Given the description of an element on the screen output the (x, y) to click on. 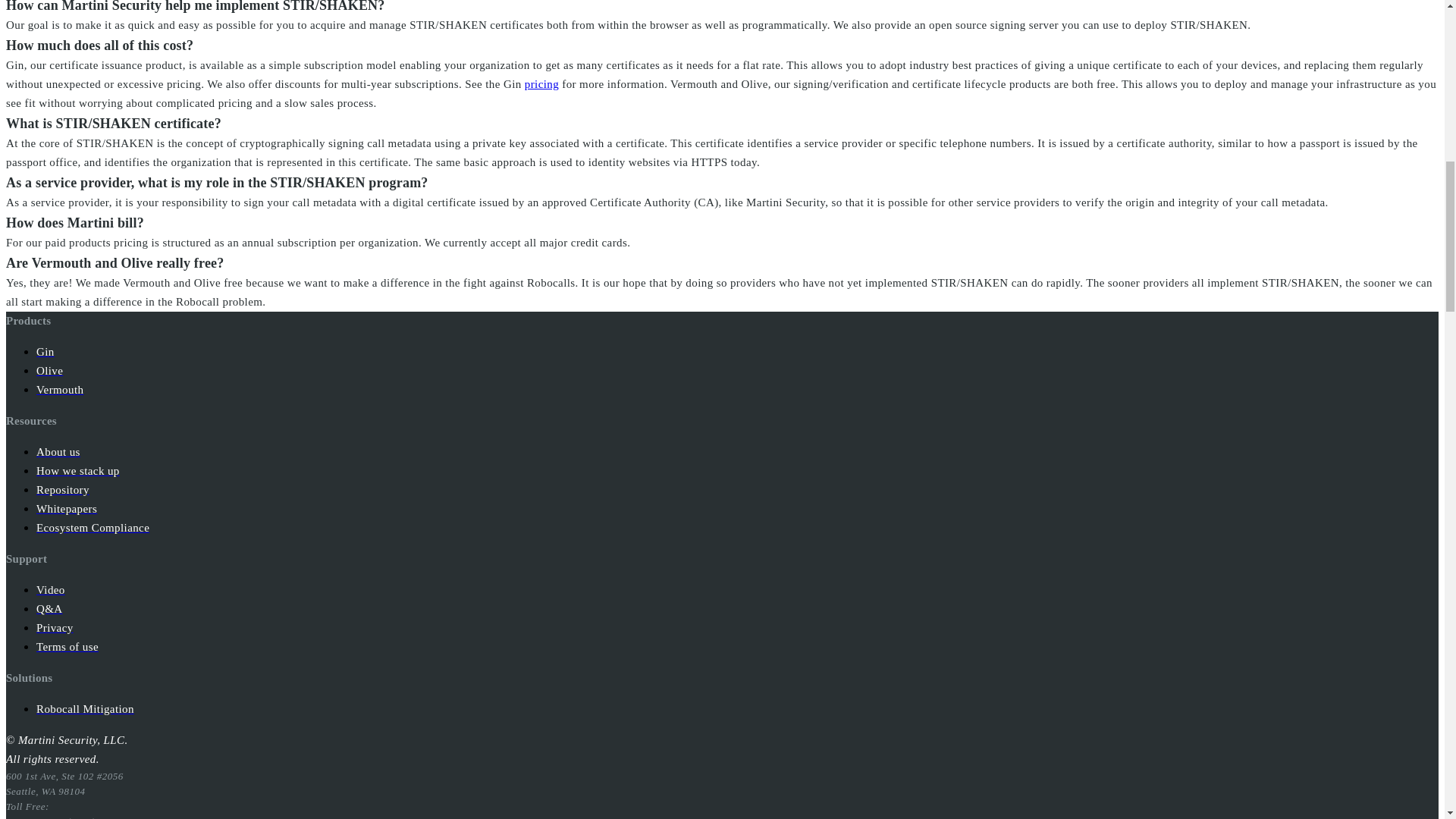
About us (58, 451)
Vermouth (59, 389)
pricing (541, 83)
How we stack up (77, 470)
Whitepapers (66, 508)
Terms of use (67, 645)
Privacy (55, 626)
Olive (49, 369)
Ecosystem Compliance (92, 526)
Video (50, 589)
